Given the description of an element on the screen output the (x, y) to click on. 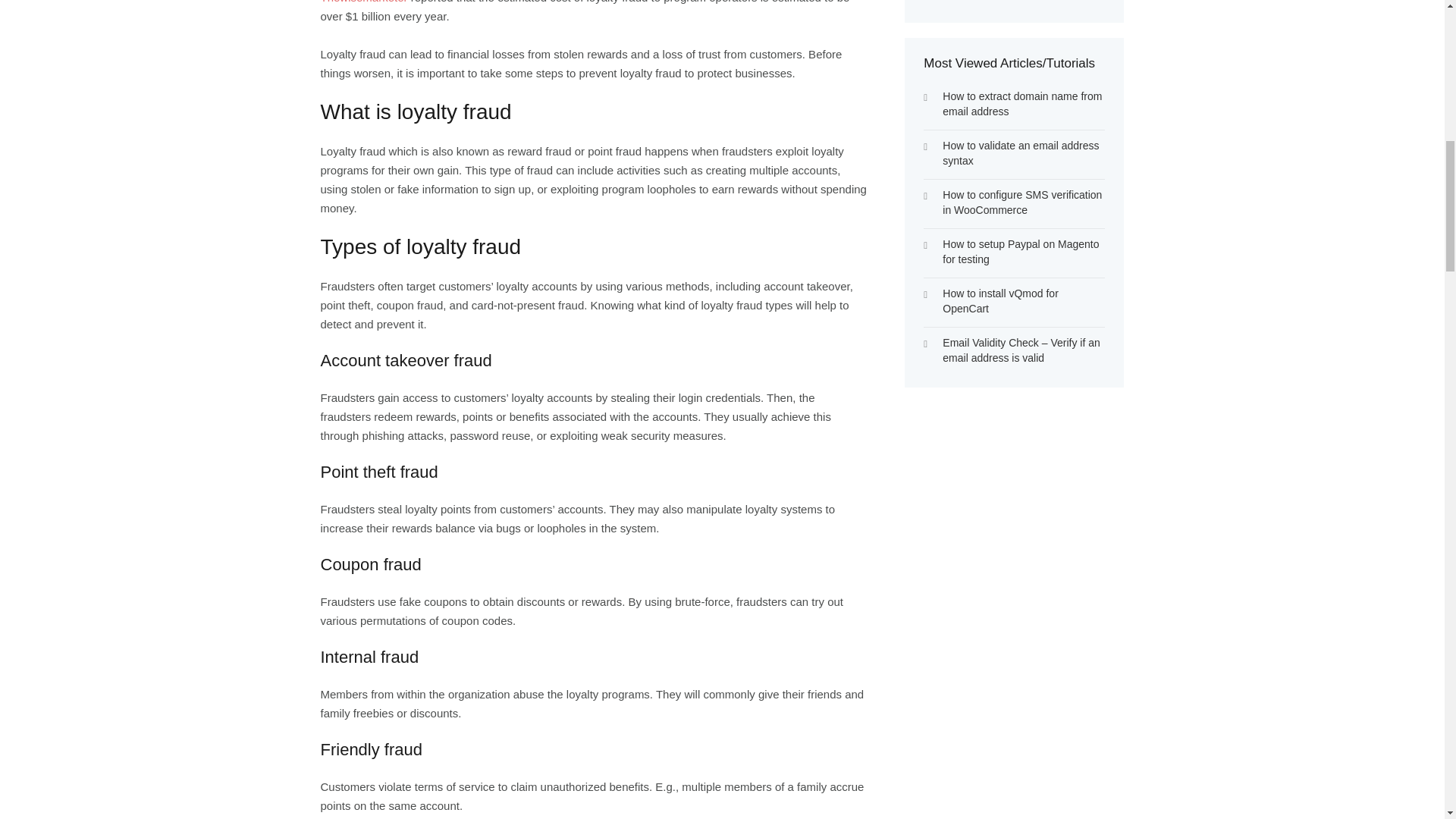
Thewisemarketer (363, 2)
